Given the description of an element on the screen output the (x, y) to click on. 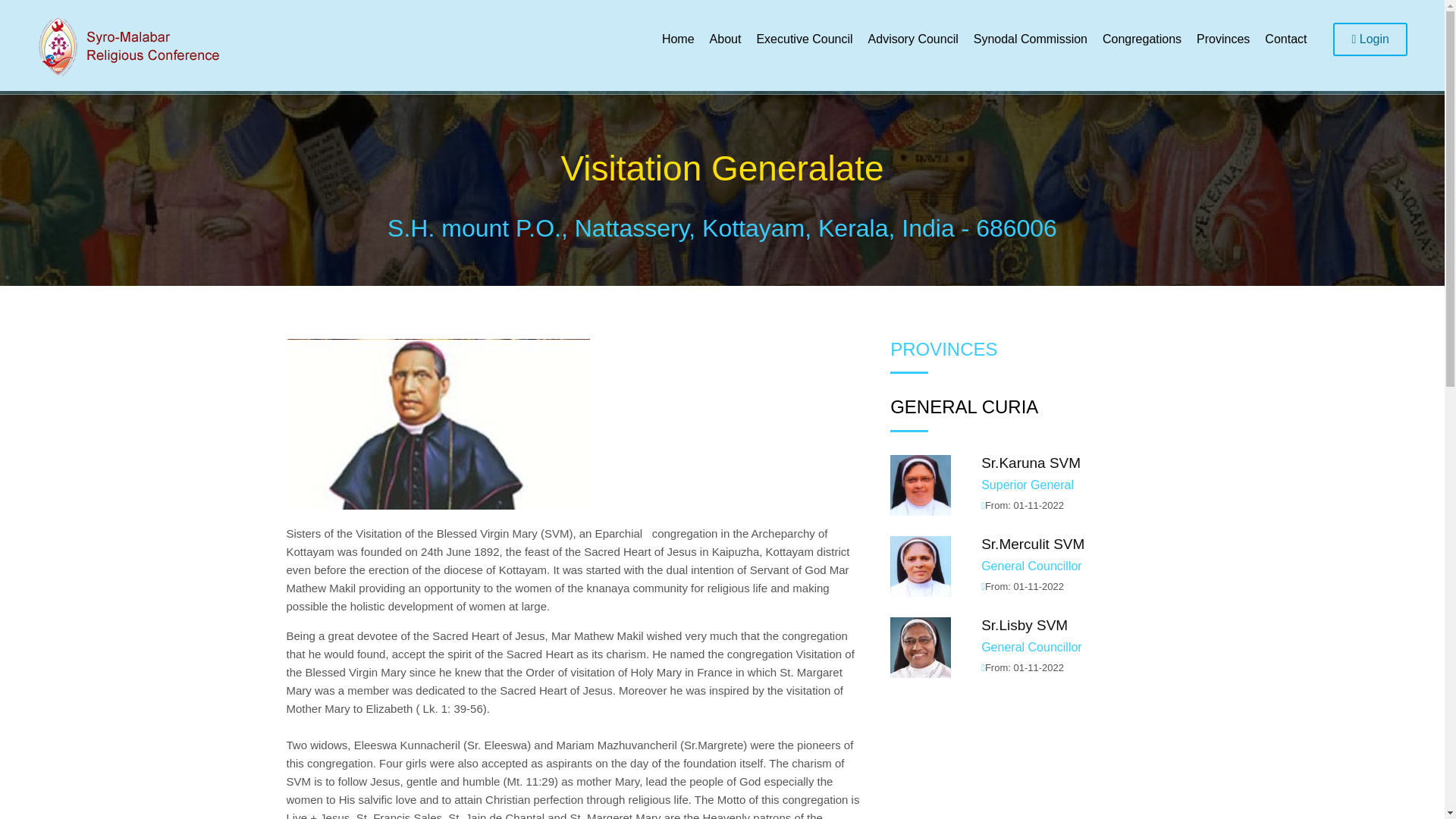
General Councillor (1031, 565)
Sr.Merculit SVM (1032, 544)
PROVINCES (943, 349)
Sr.Karuna SVM (1030, 462)
Superior General (1027, 484)
Executive Council (804, 38)
Synodal Commission (1030, 38)
Advisory Council (913, 38)
Congregations (1141, 38)
Provinces (1223, 38)
Login (1369, 39)
General Councillor (1031, 646)
Sr.Lisby SVM (1024, 625)
Contact (1285, 38)
